Given the description of an element on the screen output the (x, y) to click on. 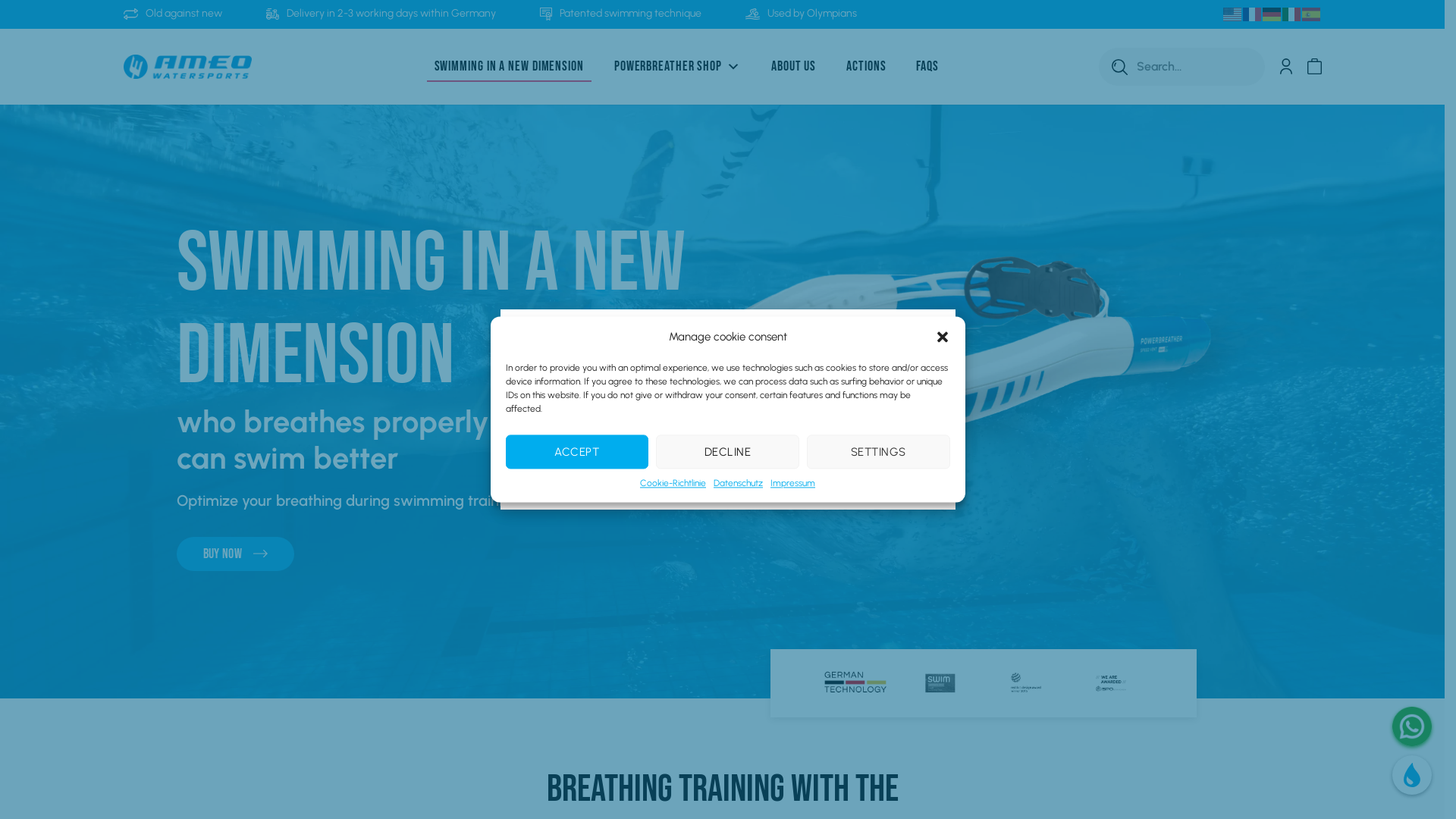
English Element type: hover (1232, 13)
Powerbreather - AMEO Watersports Element type: hover (186, 66)
SETTINGS Element type: text (878, 451)
Spanish Element type: hover (1311, 13)
Suche Element type: text (1119, 67)
DECLINE Element type: text (728, 451)
Cart Element type: hover (1314, 65)
Powerbreather Shop Element type: text (677, 66)
FAQs Element type: text (927, 66)
Italian Element type: hover (1291, 13)
Datenschutz Element type: text (738, 483)
BUY NOW Element type: text (234, 553)
ACCEPT Element type: text (577, 451)
Swimming in a new dimension Element type: text (508, 66)
ACTIONS Element type: text (865, 66)
Impressum Element type: text (792, 483)
German Element type: hover (1271, 13)
About Us Element type: text (793, 66)
French Element type: hover (1251, 13)
Cookie-Richtlinie Element type: text (673, 483)
